Given the description of an element on the screen output the (x, y) to click on. 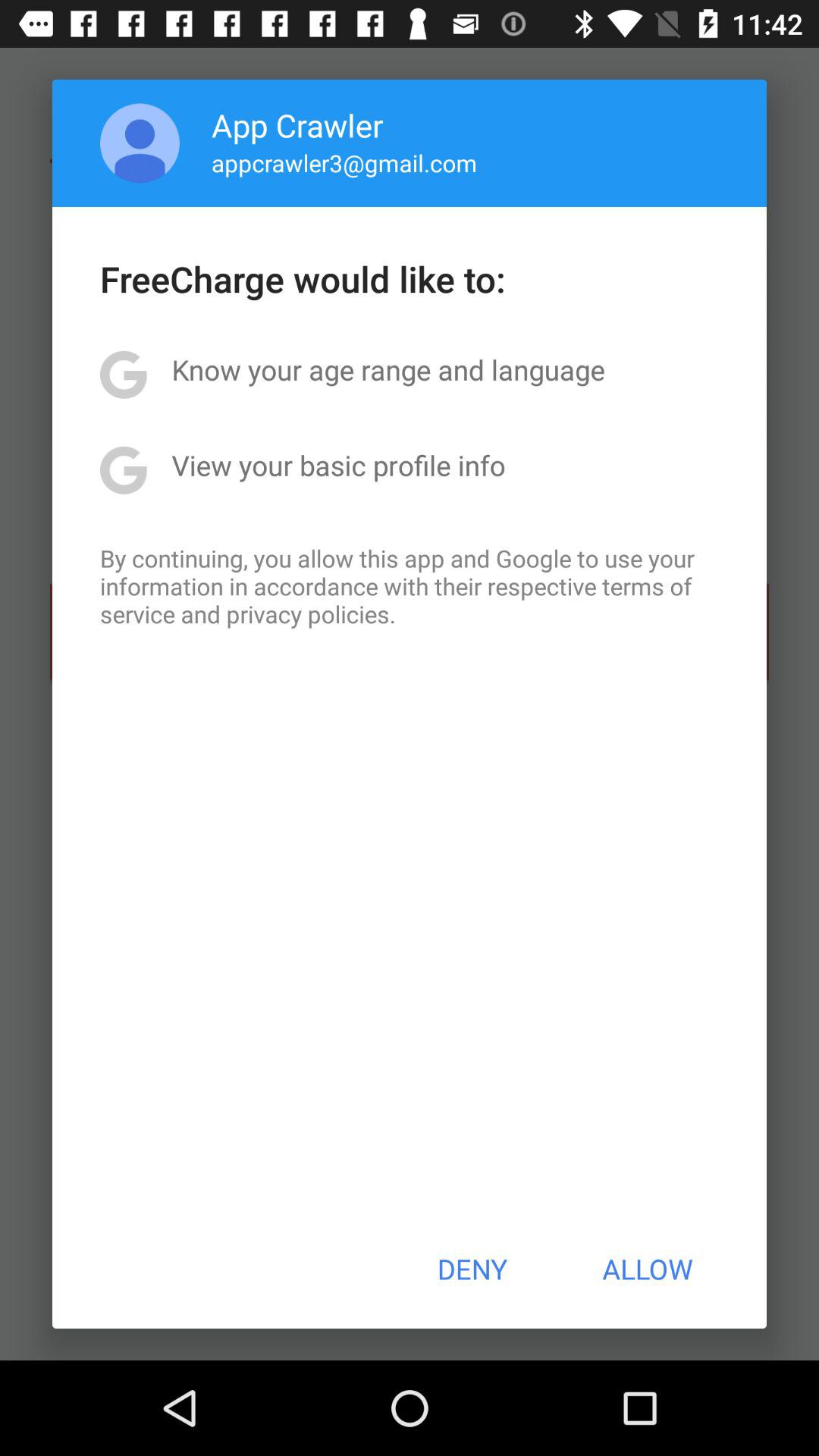
scroll to app crawler (297, 124)
